Given the description of an element on the screen output the (x, y) to click on. 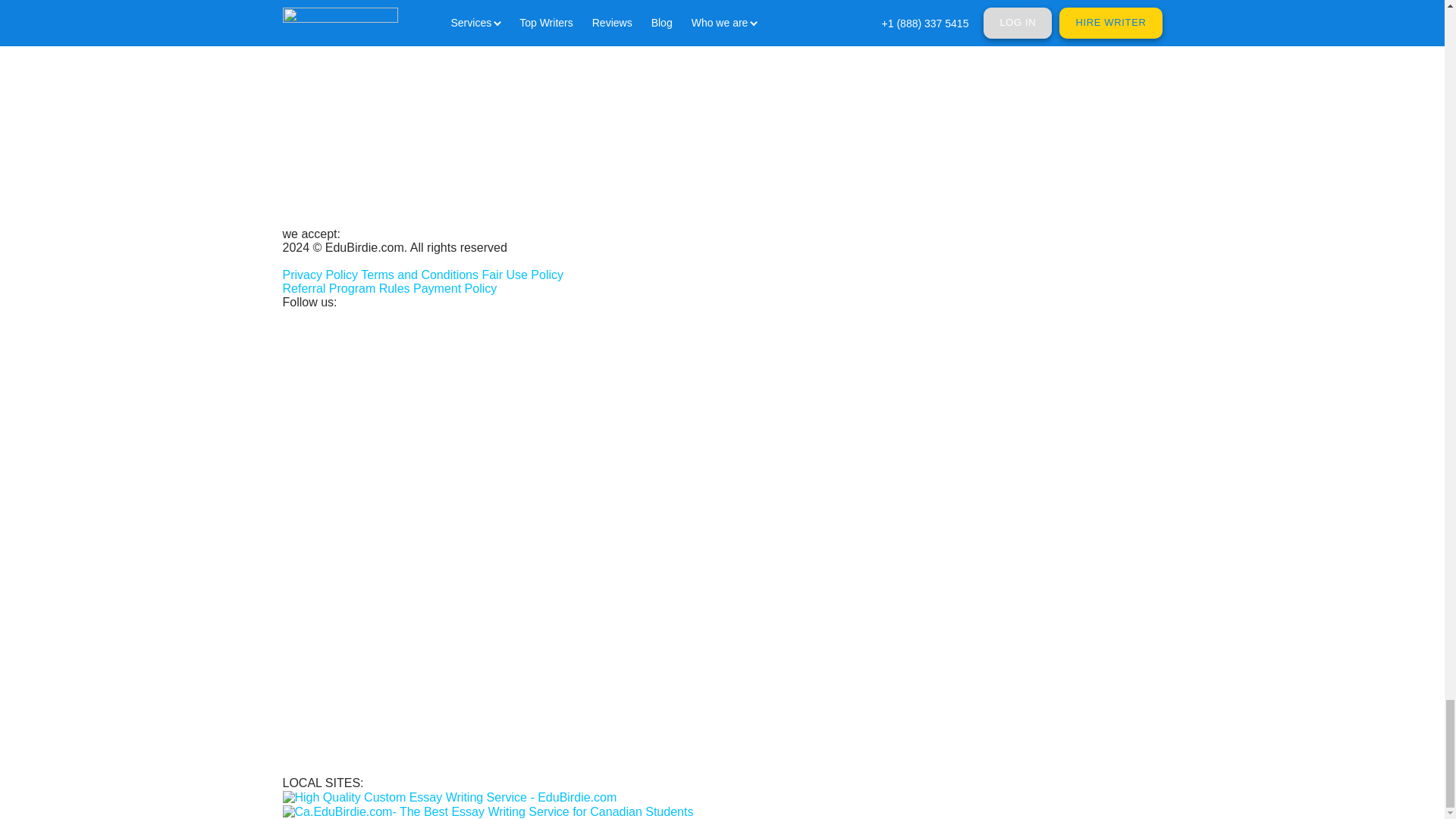
High Quality Custom Essay Writing Service - EduBirdie.com (448, 796)
High Quality Custom Essay Writing Service - EduBirdie.com (448, 797)
